Given the description of an element on the screen output the (x, y) to click on. 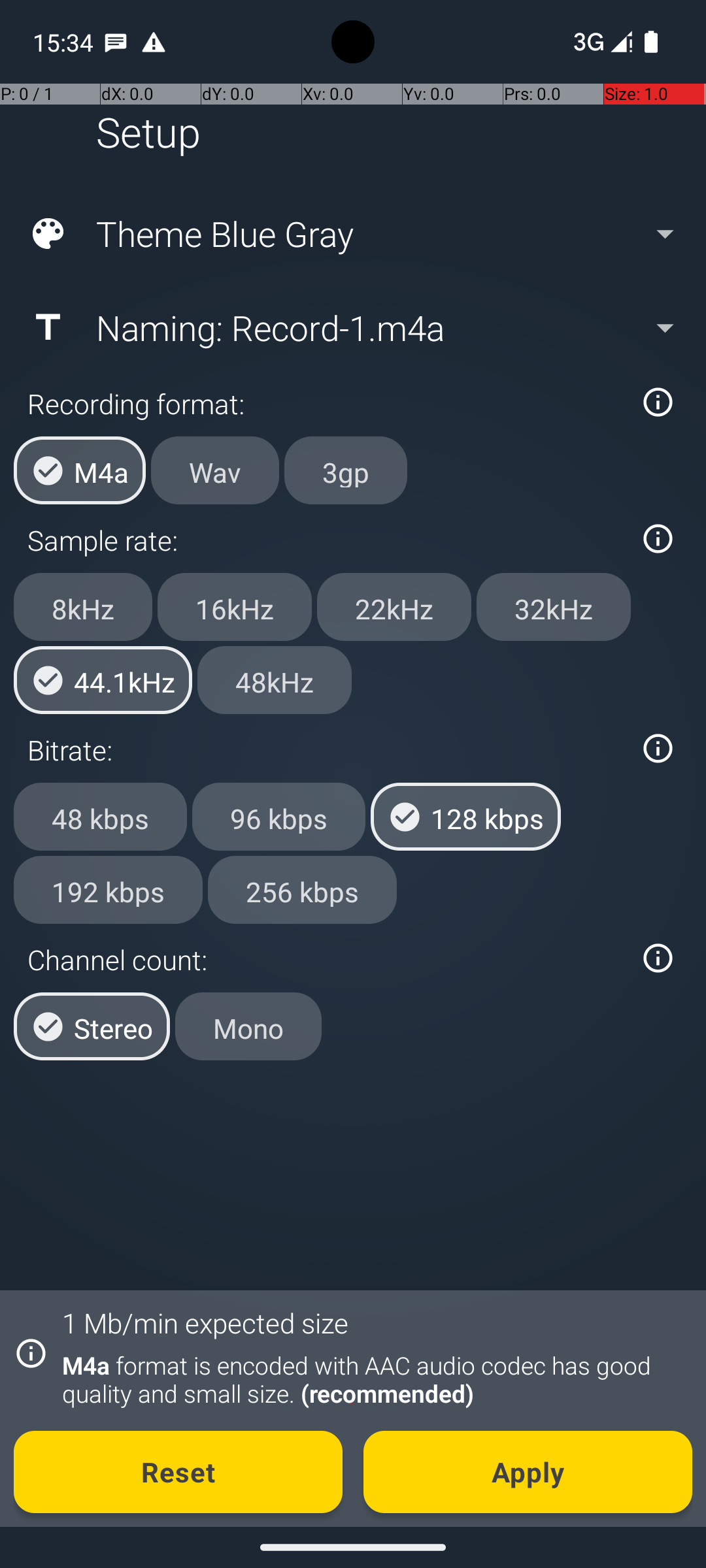
1 Mb/min expected size Element type: android.widget.TextView (205, 1322)
M4a format is encoded with AAC audio codec has good quality and small size. (recommended) Element type: android.widget.TextView (370, 1378)
Reset Element type: android.widget.Button (177, 1471)
Apply Element type: android.widget.Button (527, 1471)
Setup Element type: android.widget.TextView (148, 131)
Recording format: Element type: android.widget.TextView (325, 403)
M4a Element type: android.widget.TextView (79, 470)
Wav Element type: android.widget.TextView (215, 470)
3gp Element type: android.widget.TextView (345, 470)
Sample rate: Element type: android.widget.TextView (325, 539)
44.1kHz Element type: android.widget.TextView (102, 680)
16kHz Element type: android.widget.TextView (234, 606)
22kHz Element type: android.widget.TextView (394, 606)
32kHz Element type: android.widget.TextView (553, 606)
48kHz Element type: android.widget.TextView (274, 680)
8kHz Element type: android.widget.TextView (82, 606)
Bitrate: Element type: android.widget.TextView (325, 749)
128 kbps Element type: android.widget.TextView (465, 816)
192 kbps Element type: android.widget.TextView (107, 889)
256 kbps Element type: android.widget.TextView (301, 889)
48 kbps Element type: android.widget.TextView (99, 816)
96 kbps Element type: android.widget.TextView (278, 816)
Channel count: Element type: android.widget.TextView (325, 959)
Stereo Element type: android.widget.TextView (91, 1026)
Mono Element type: android.widget.TextView (248, 1026)
Theme Blue Gray Element type: android.widget.TextView (352, 233)
Naming: Record-1.m4a Element type: android.widget.TextView (352, 327)
SMS Messenger notification:  Element type: android.widget.ImageView (115, 41)
Android System notification: Data warning Element type: android.widget.ImageView (153, 41)
Phone signal full. Element type: android.widget.FrameLayout (600, 41)
